Given the description of an element on the screen output the (x, y) to click on. 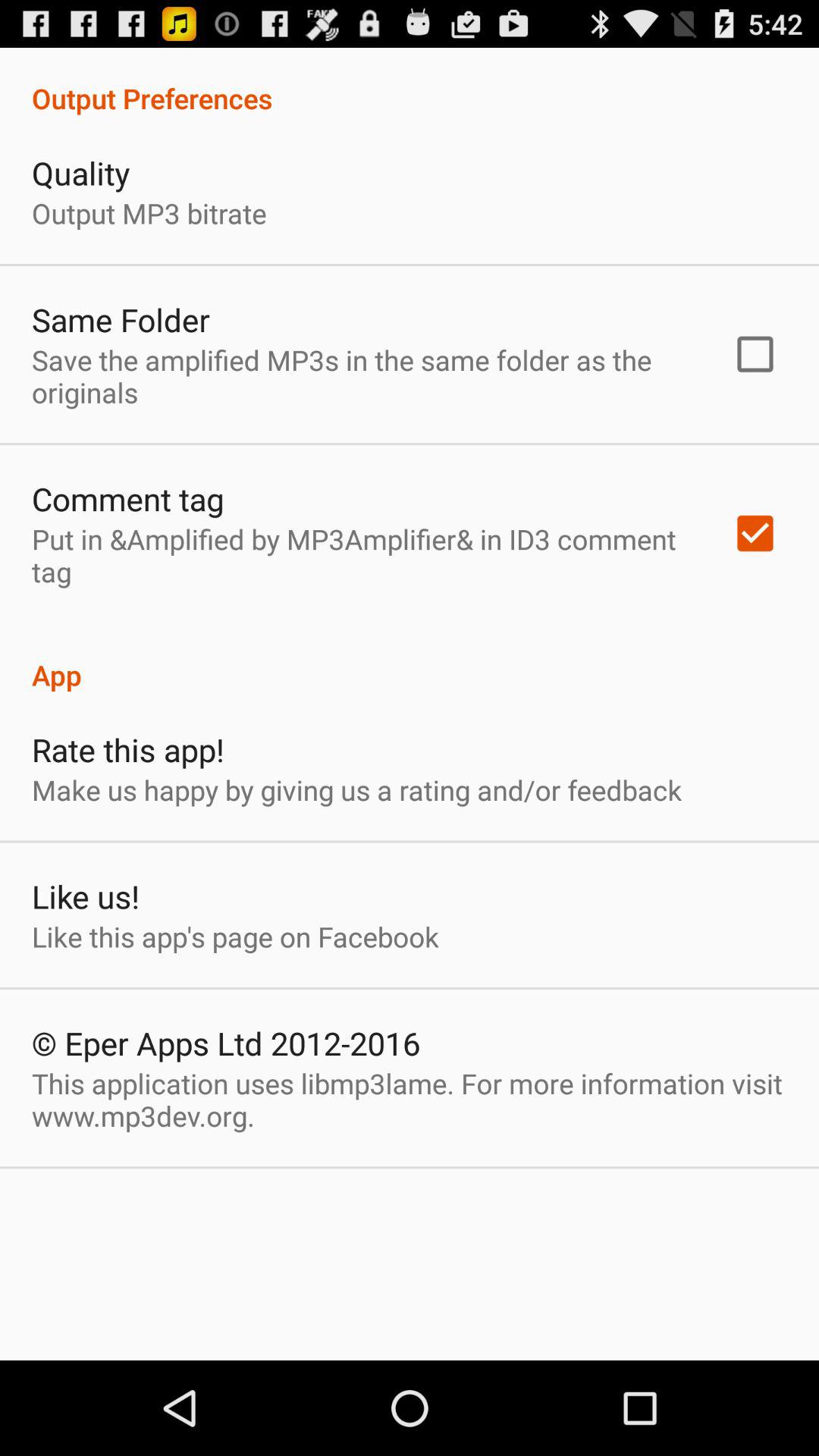
select the item above like this app (85, 895)
